Given the description of an element on the screen output the (x, y) to click on. 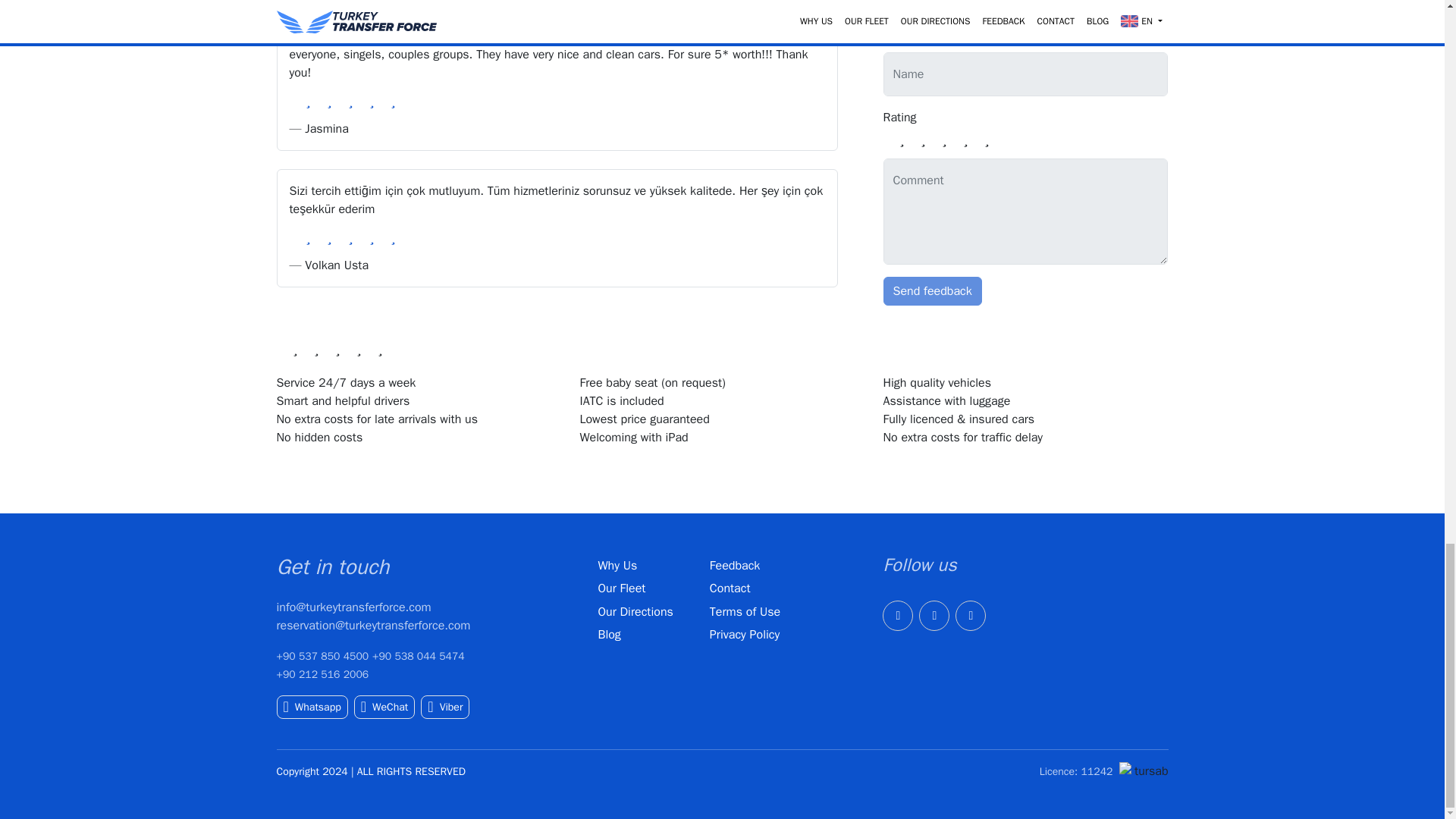
Our Directions (634, 611)
Feedback (735, 565)
Our Fleet (620, 588)
Why Us (616, 565)
Privacy Policy (744, 634)
Terms of Use (745, 611)
Blog (608, 634)
Contact (730, 588)
